Given the description of an element on the screen output the (x, y) to click on. 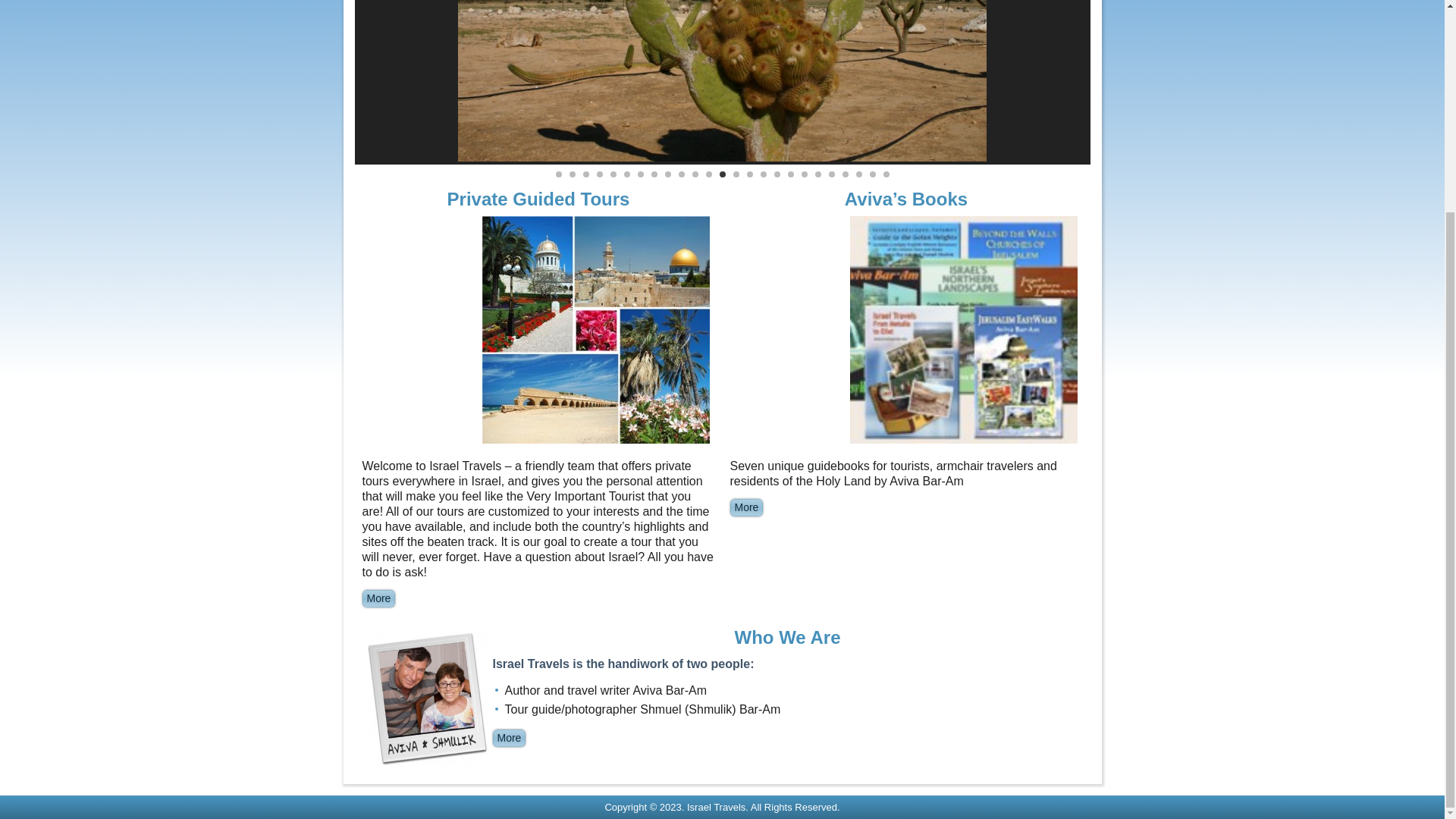
Private Guided Tours (538, 199)
